Given the description of an element on the screen output the (x, y) to click on. 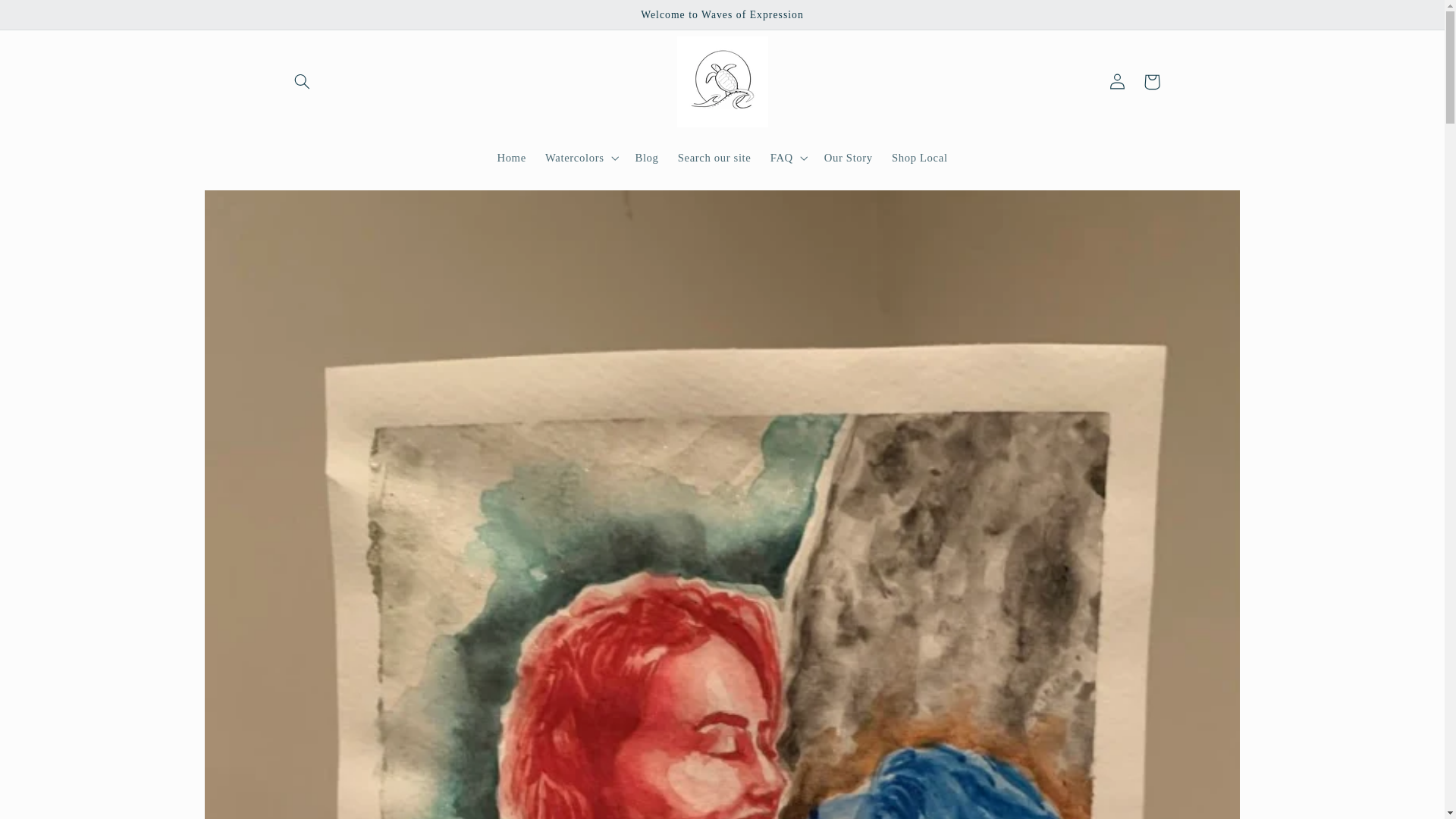
Our Story (847, 158)
Blog (647, 158)
Shop Local (919, 158)
Search our site (714, 158)
Home (511, 158)
Skip to content (48, 18)
